Given the description of an element on the screen output the (x, y) to click on. 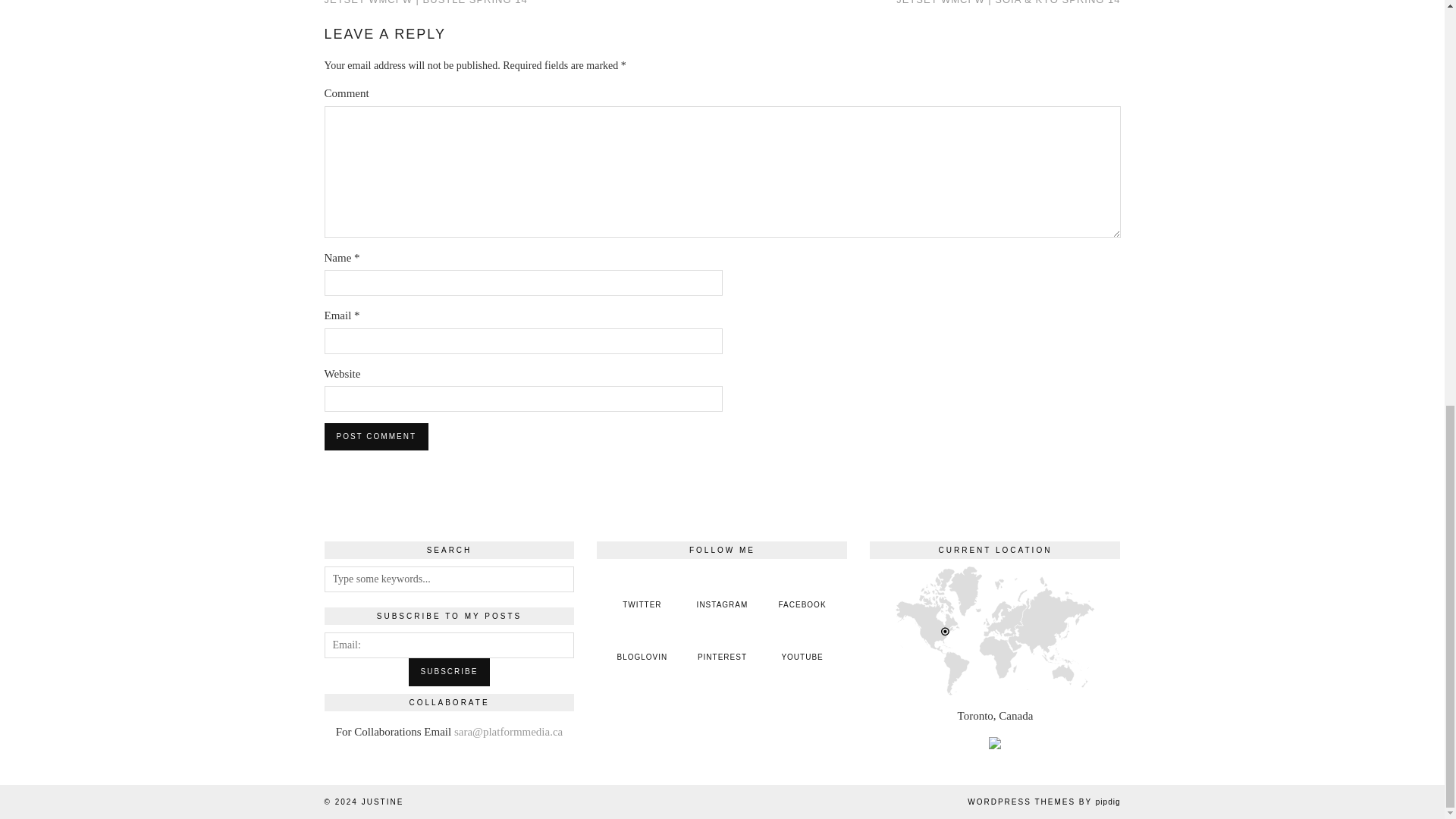
Post Comment (376, 436)
Subscribe (449, 671)
